Given the description of an element on the screen output the (x, y) to click on. 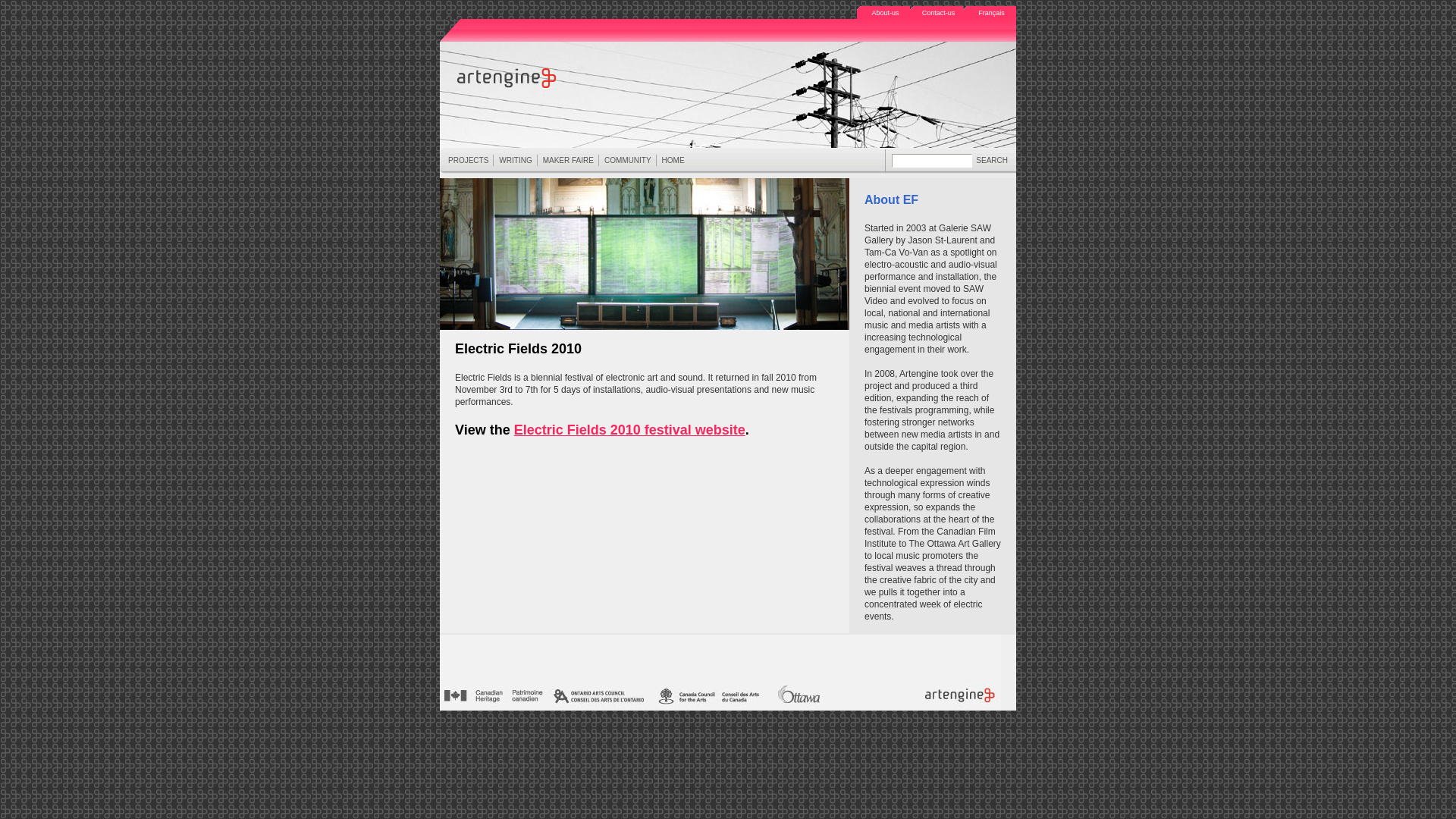
MAKER FAIRE Element type: text (567, 160)
PROJECTS Element type: text (467, 160)
Electric Fields 2010 festival website Element type: text (629, 429)
About-us Element type: text (883, 13)
WRITING Element type: text (514, 160)
COMMUNITY Element type: text (627, 160)
HOME Element type: text (672, 160)
SEARCH Element type: text (991, 160)
Contact-us Element type: text (936, 13)
